Given the description of an element on the screen output the (x, y) to click on. 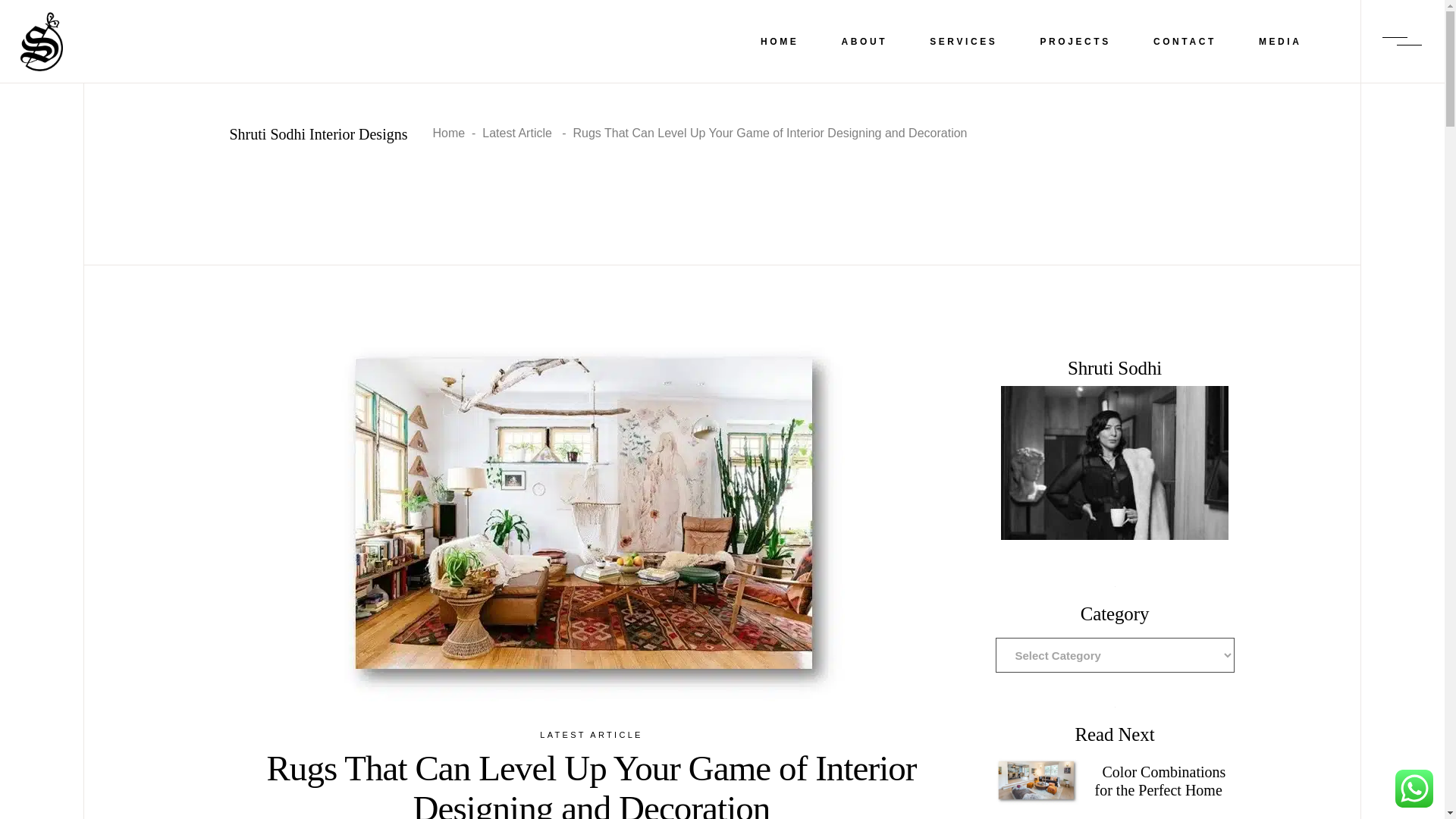
Send (1163, 565)
MEDIA (1280, 41)
PROJECTS (1074, 41)
CONTACT (1184, 41)
SERVICES (962, 41)
ABOUT (863, 41)
HOME (779, 41)
